Given the description of an element on the screen output the (x, y) to click on. 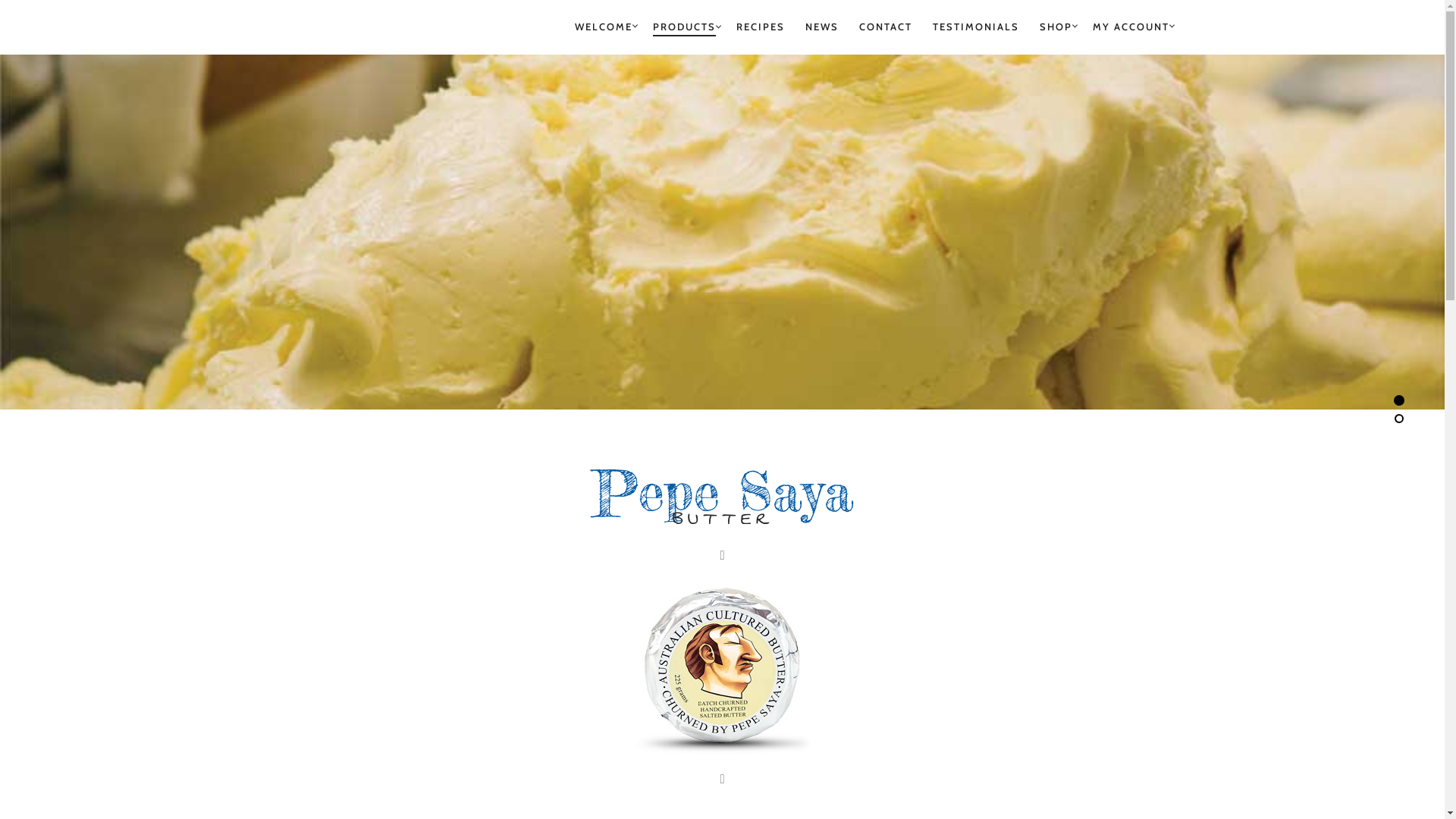
TESTIMONIALS Element type: text (975, 26)
RECIPES Element type: text (759, 26)
MY ACCOUNT Element type: text (1129, 26)
WELCOME Element type: text (603, 26)
SHOP Element type: text (1054, 26)
PRODUCTS Element type: text (683, 27)
NEWS Element type: text (821, 26)
FISHI Element type: hover (293, 27)
CONTACT Element type: text (884, 26)
